Given the description of an element on the screen output the (x, y) to click on. 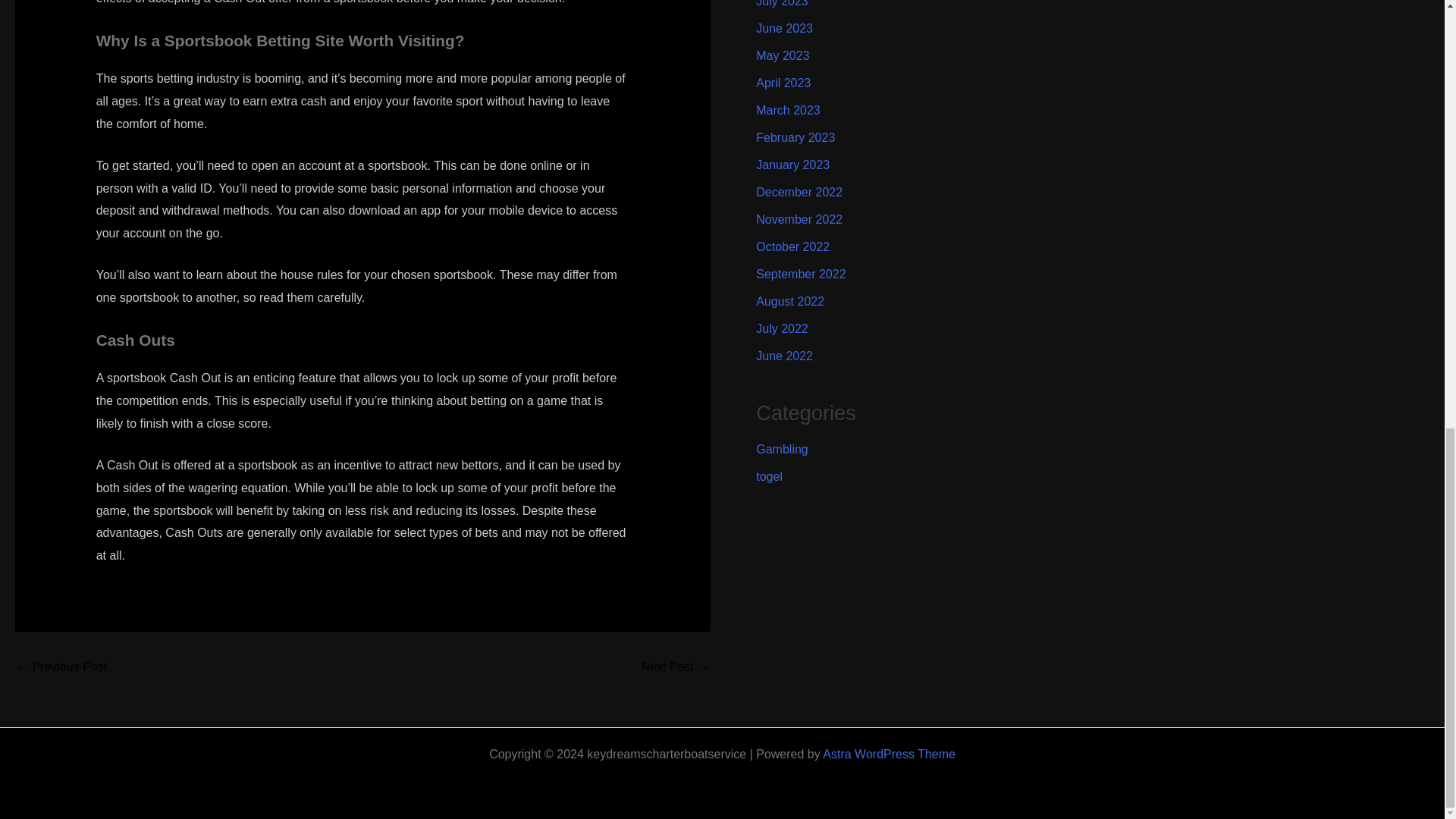
July 2023 (781, 3)
Things You Need to Know Before You Start Gambling Online (61, 666)
The Basics of Poker (674, 666)
January 2023 (792, 164)
December 2022 (799, 192)
March 2023 (788, 110)
February 2023 (794, 137)
April 2023 (782, 82)
November 2022 (799, 219)
May 2023 (782, 55)
